Given the description of an element on the screen output the (x, y) to click on. 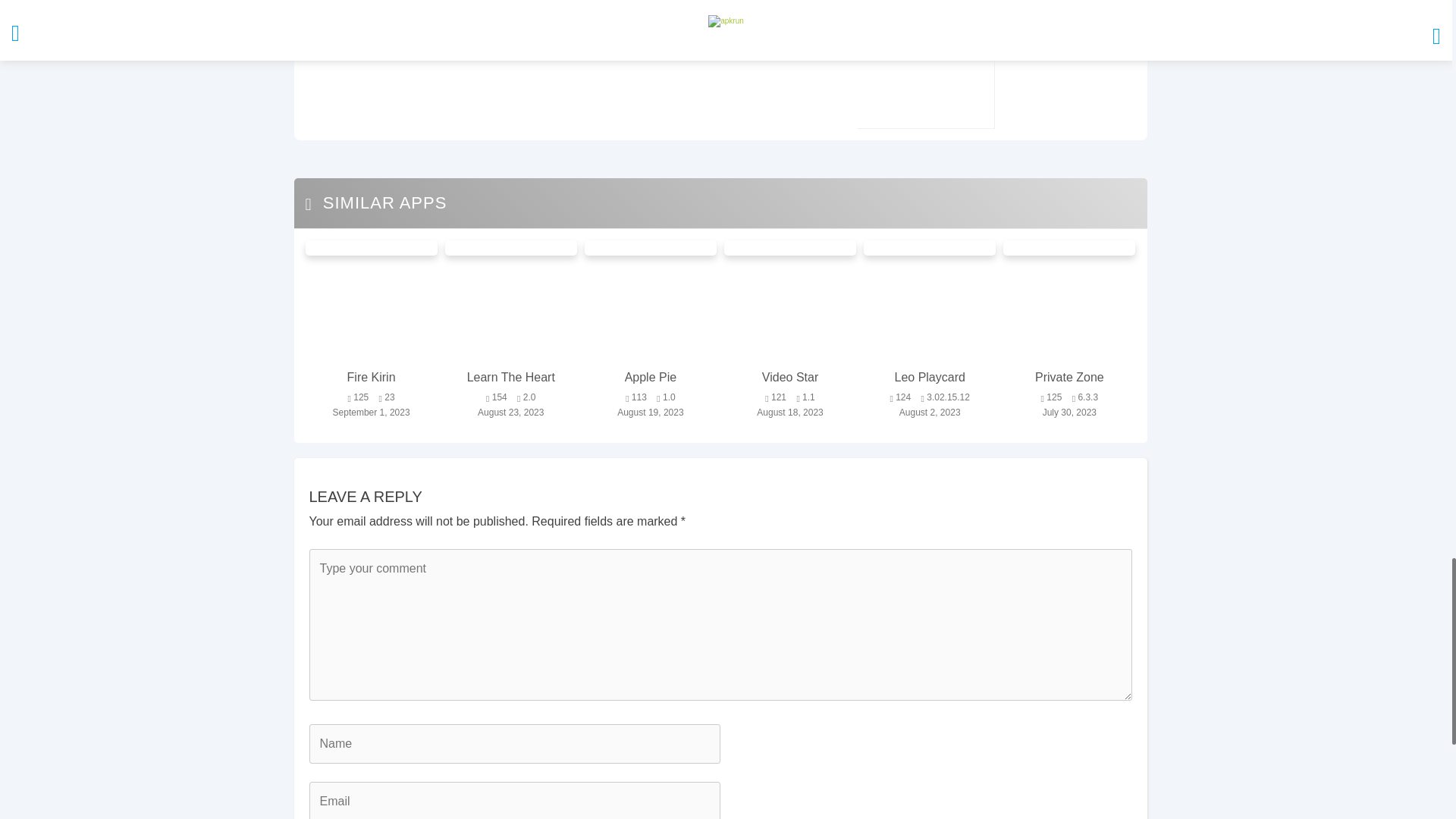
Video Star (790, 377)
Learn The Heart (510, 377)
Leo Playcard (929, 377)
Private Zone (1068, 377)
Apple Pie (650, 377)
  SIMILAR APPS (375, 202)
Fire Kirin (371, 377)
